Given the description of an element on the screen output the (x, y) to click on. 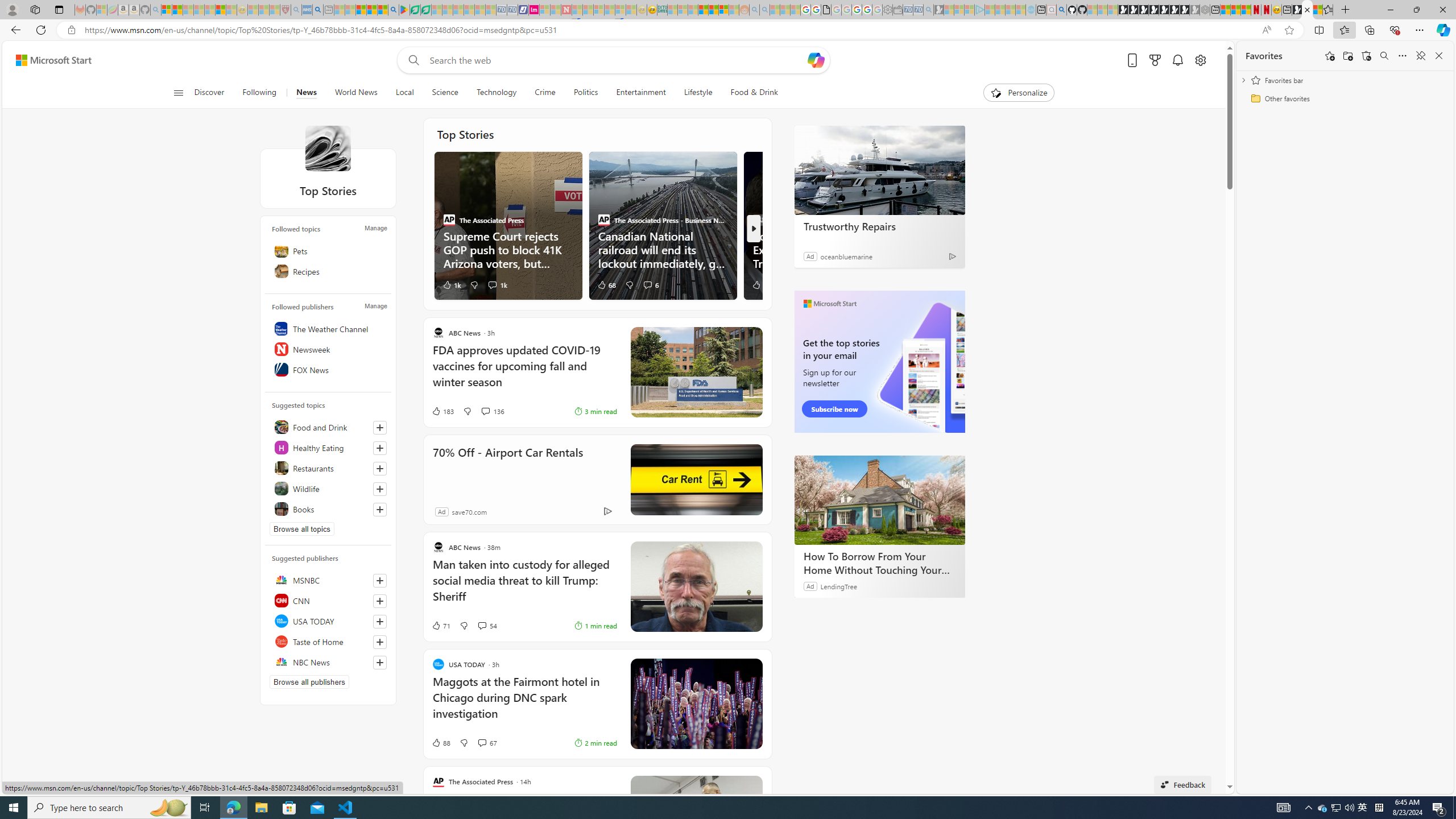
View comments 136 Comment (485, 411)
Jobs - lastminute.com Investor Portal (534, 9)
Unpin favorites (1420, 55)
Trustworthy Repairs (879, 226)
